Given the description of an element on the screen output the (x, y) to click on. 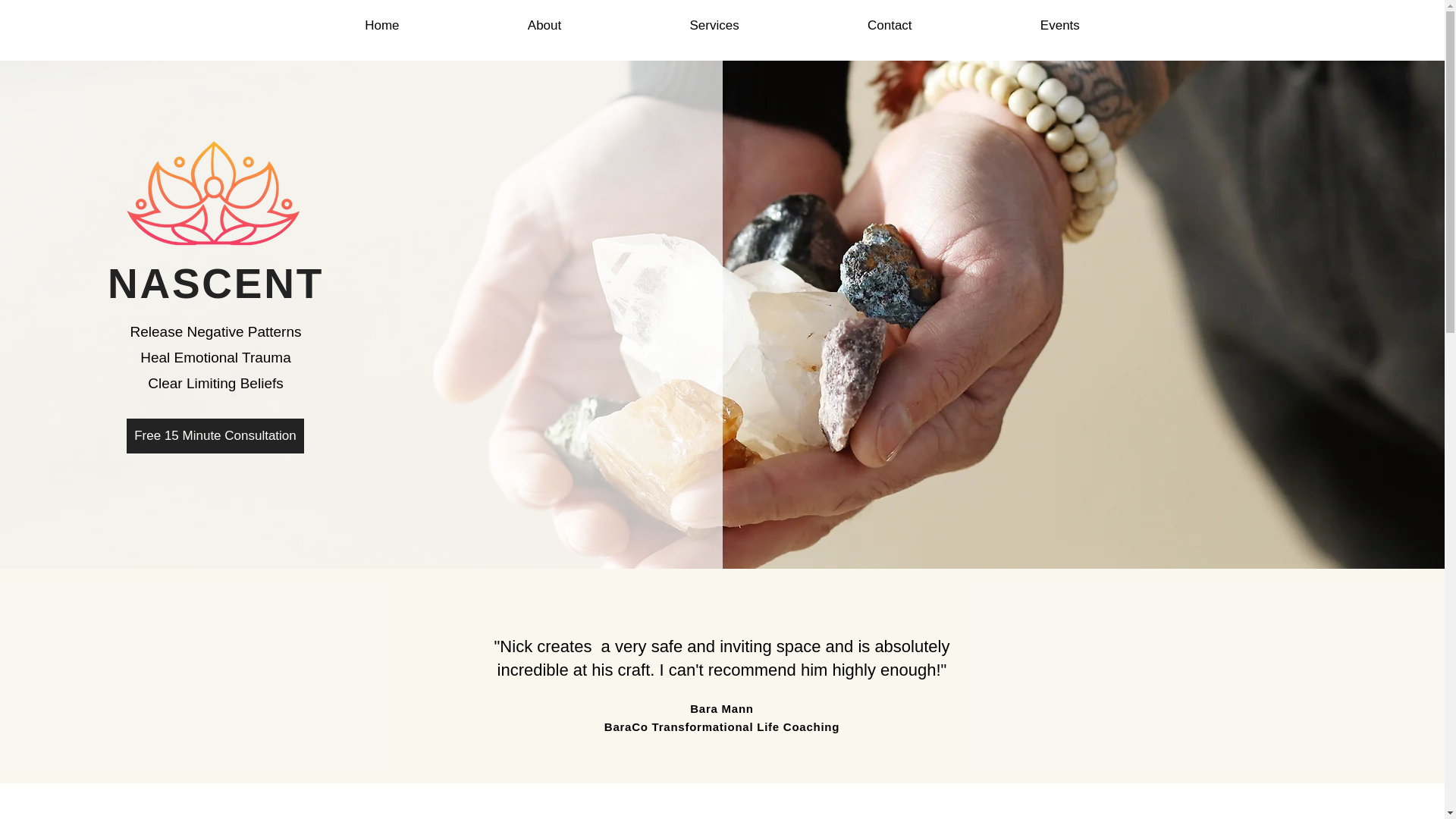
Events (1058, 25)
About (544, 25)
Services (714, 25)
Free 15 Minute Consultation (215, 435)
Contact (889, 25)
Home (382, 25)
